Given the description of an element on the screen output the (x, y) to click on. 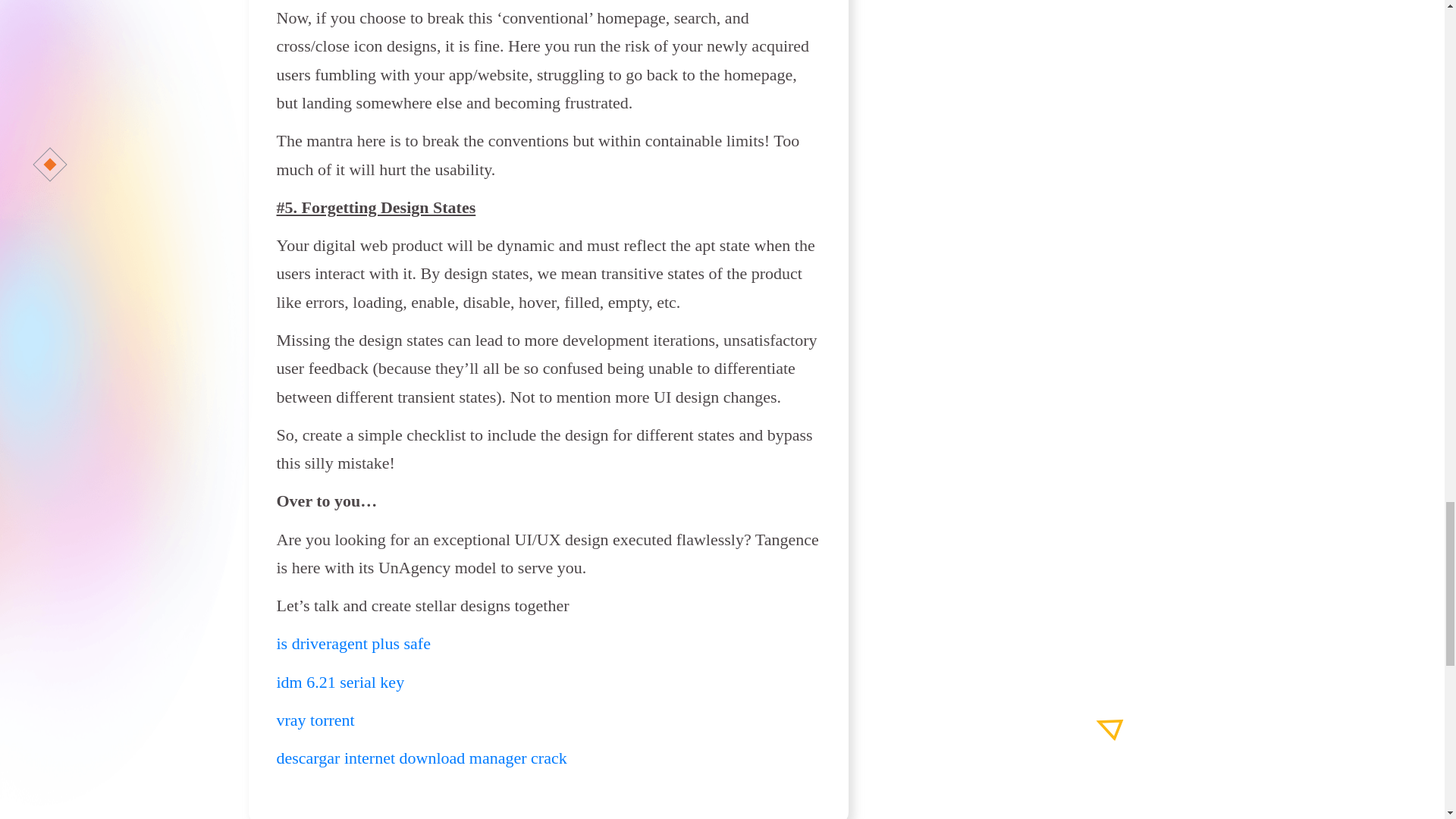
descargar internet download manager crack (421, 757)
idm 6.21 serial key (340, 681)
vray torrent (314, 719)
is driveragent plus safe (352, 642)
